Given the description of an element on the screen output the (x, y) to click on. 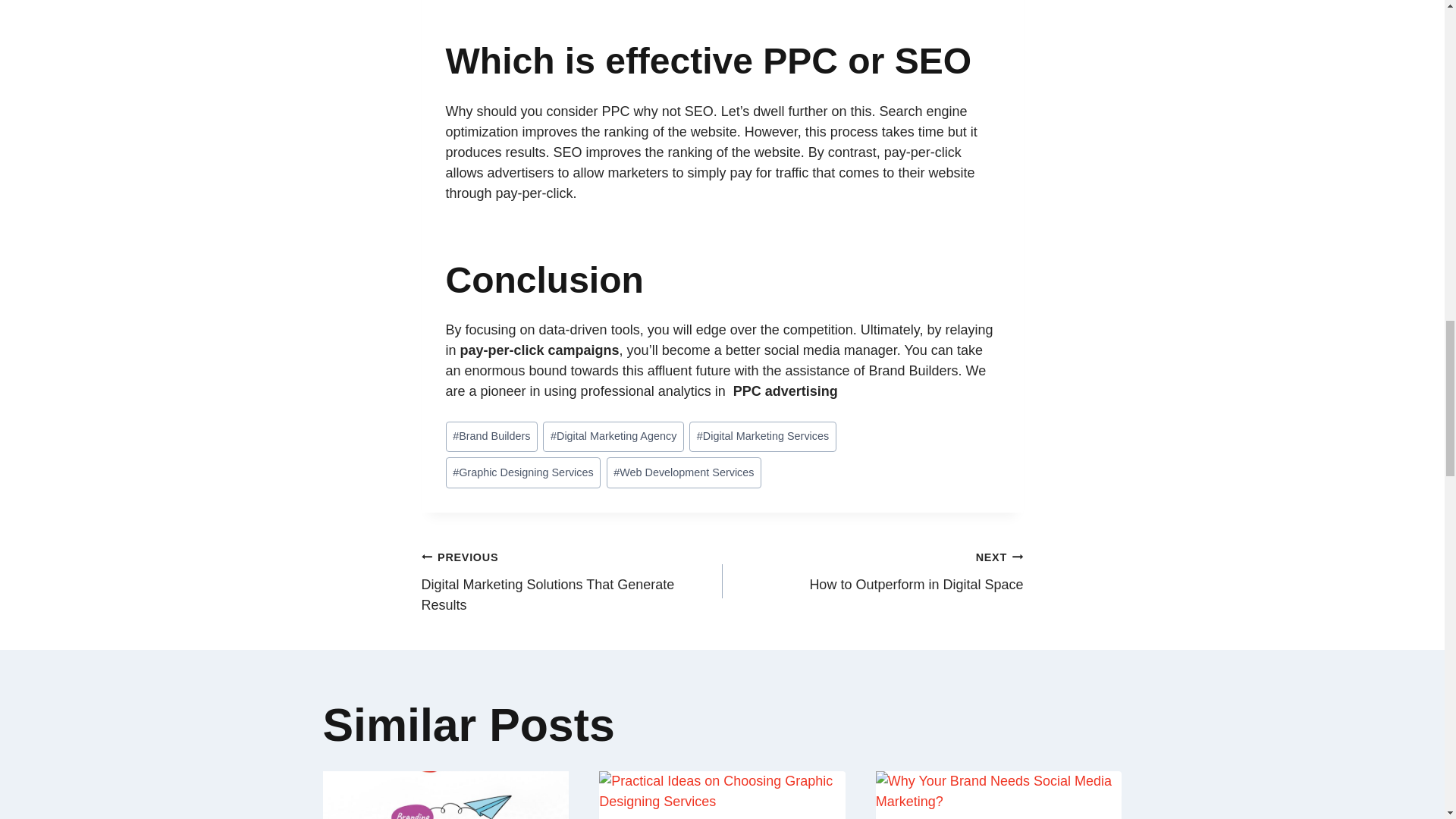
Digital Marketing Services (761, 436)
Brand Builders (491, 436)
Web Development Services (684, 472)
Digital Marketing Agency (613, 436)
Graphic Designing Services (872, 571)
